Given the description of an element on the screen output the (x, y) to click on. 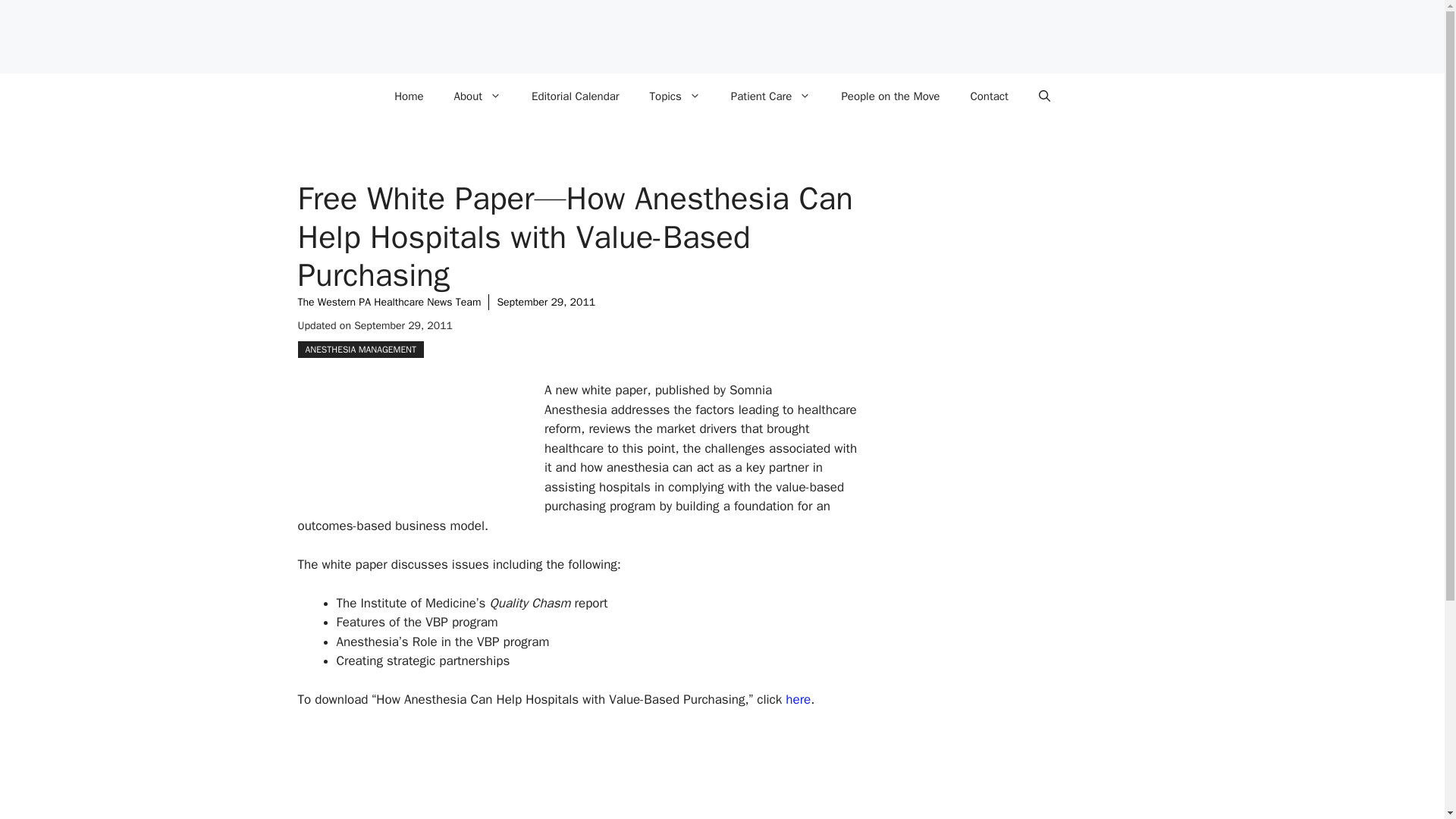
ANESTHESIA MANAGEMENT (360, 349)
Patient Care (771, 95)
Editorial Calendar (575, 95)
Contact (989, 95)
The Western PA Healthcare News Team (388, 301)
SomniaLogoNoTag (410, 442)
People on the Move (890, 95)
Home (408, 95)
Topics (675, 95)
here (798, 699)
About (477, 95)
